Given the description of an element on the screen output the (x, y) to click on. 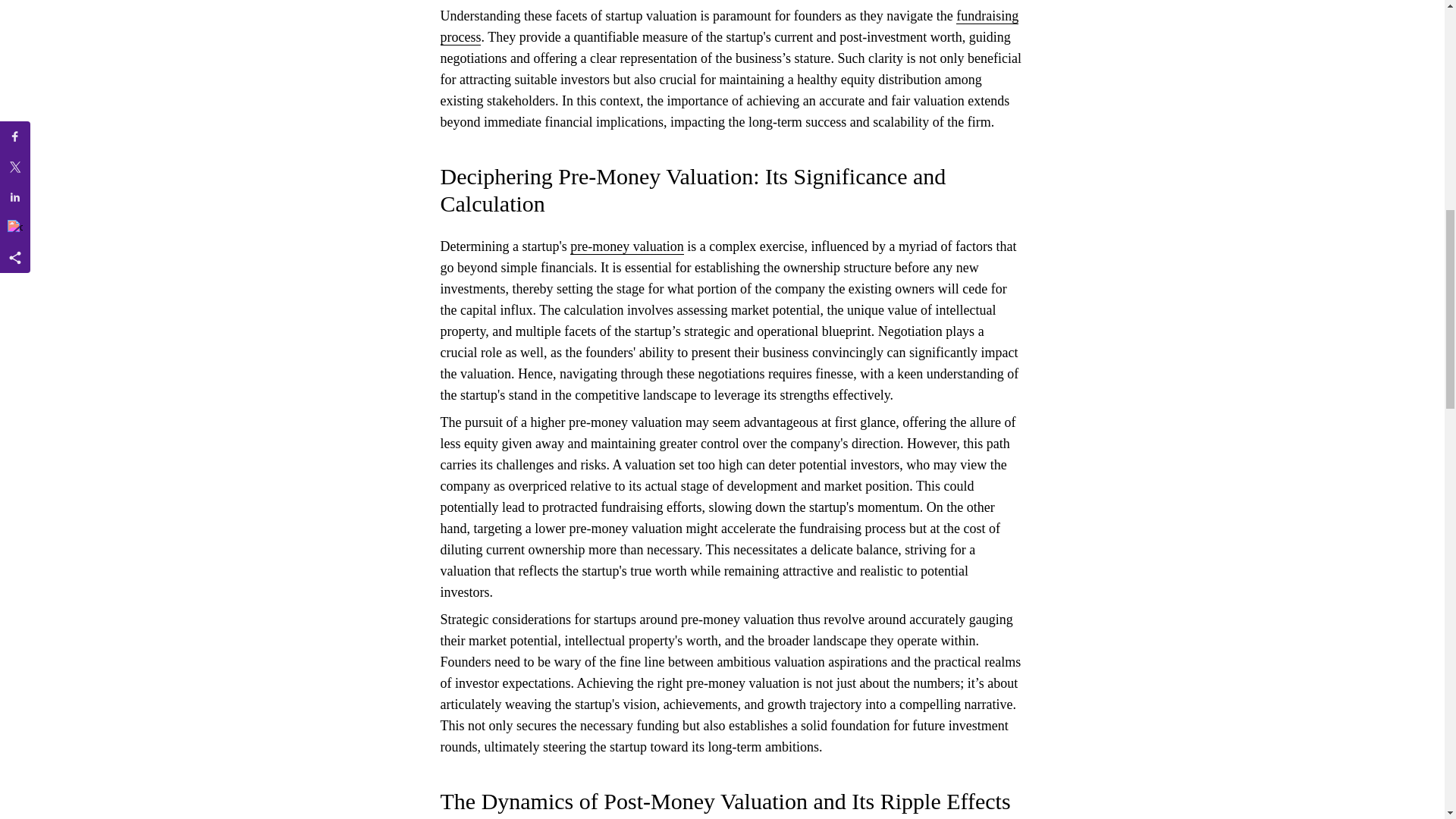
pre-money valuation (626, 246)
fundraising process (728, 26)
